Given the description of an element on the screen output the (x, y) to click on. 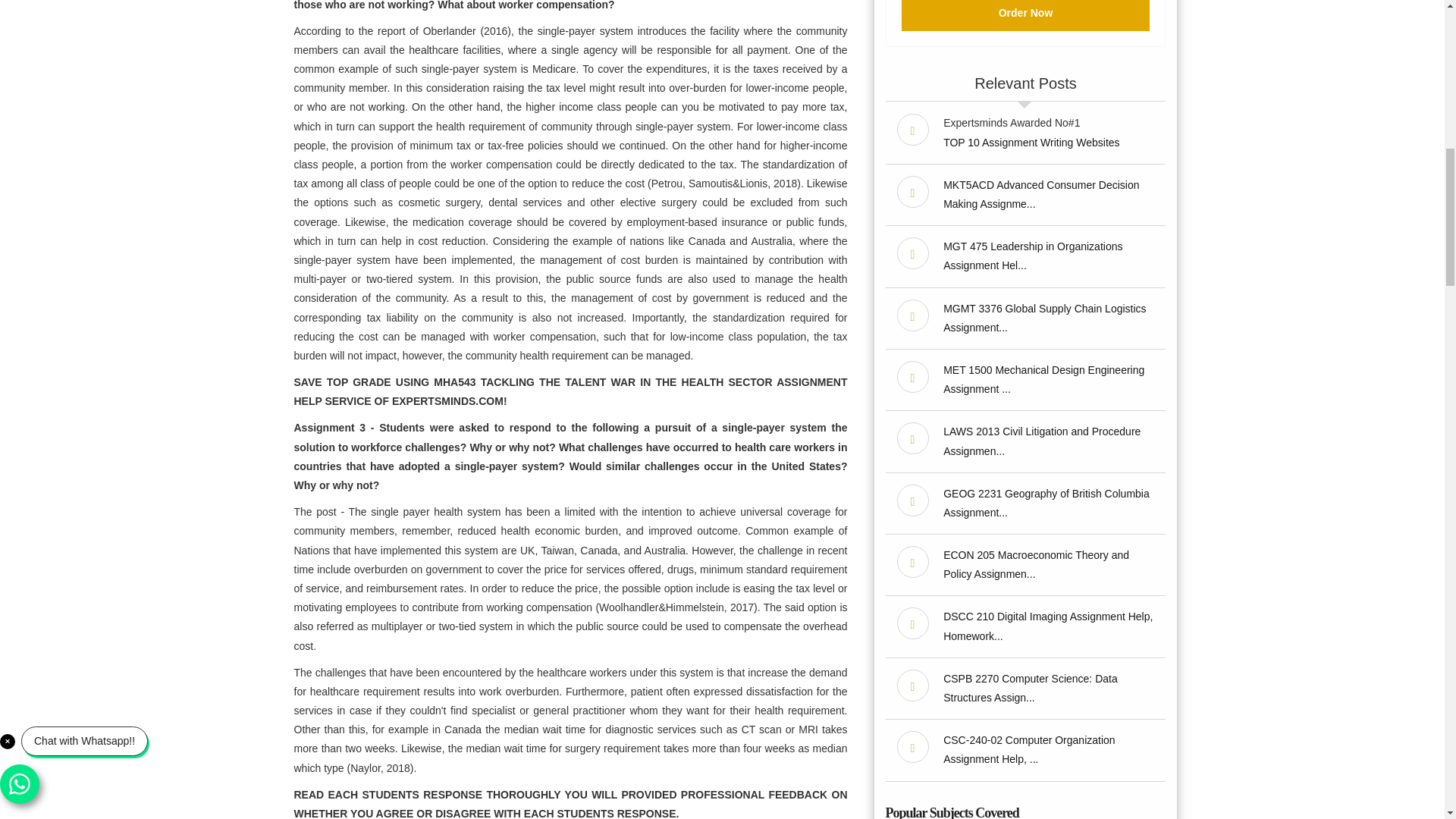
TOP 10 Assignment Writing Websites (1031, 142)
LAWS 2013 Civil Litigation and Procedure Assignmen... (1041, 440)
Order Now (1025, 15)
MKT5ACD Advanced Consumer Decision Making Assignme... (1040, 194)
MGMT 3376 Global Supply Chain Logistics Assignment... (1044, 317)
MET 1500 Mechanical Design Engineering Assignment ... (1043, 378)
MGT 475 Leadership in Organizations Assignment Hel... (1032, 255)
